Given the description of an element on the screen output the (x, y) to click on. 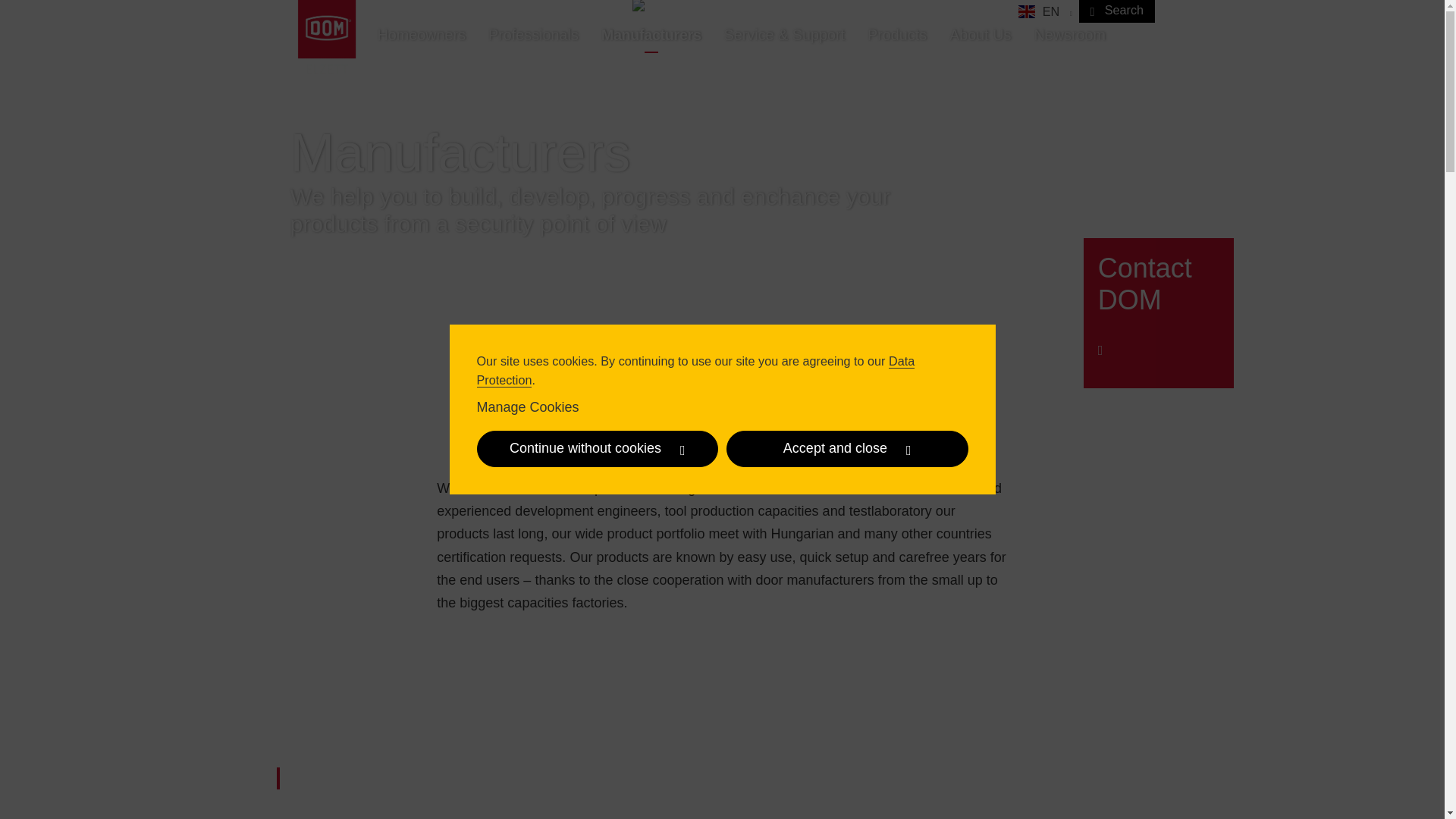
Products (896, 35)
Homeowners (421, 35)
About Us (979, 35)
EN (1044, 12)
Manufacturers (651, 35)
Contact DOM (1158, 313)
Search (1116, 11)
Professionals (533, 35)
Newsroom (1069, 35)
